Given the description of an element on the screen output the (x, y) to click on. 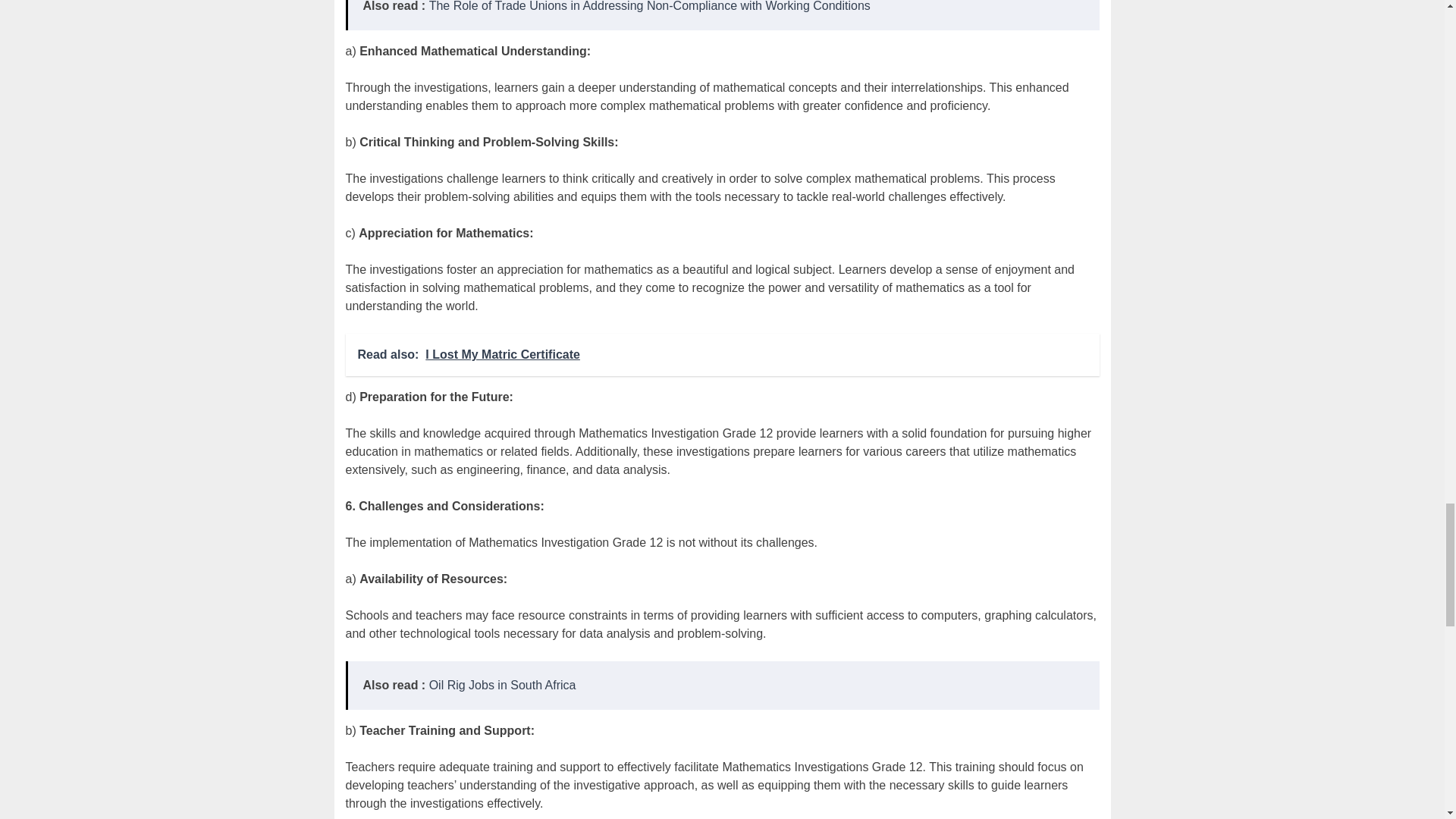
Oil Rig Jobs in South Africa (502, 684)
Read also:  I Lost My Matric Certificate (722, 354)
